Given the description of an element on the screen output the (x, y) to click on. 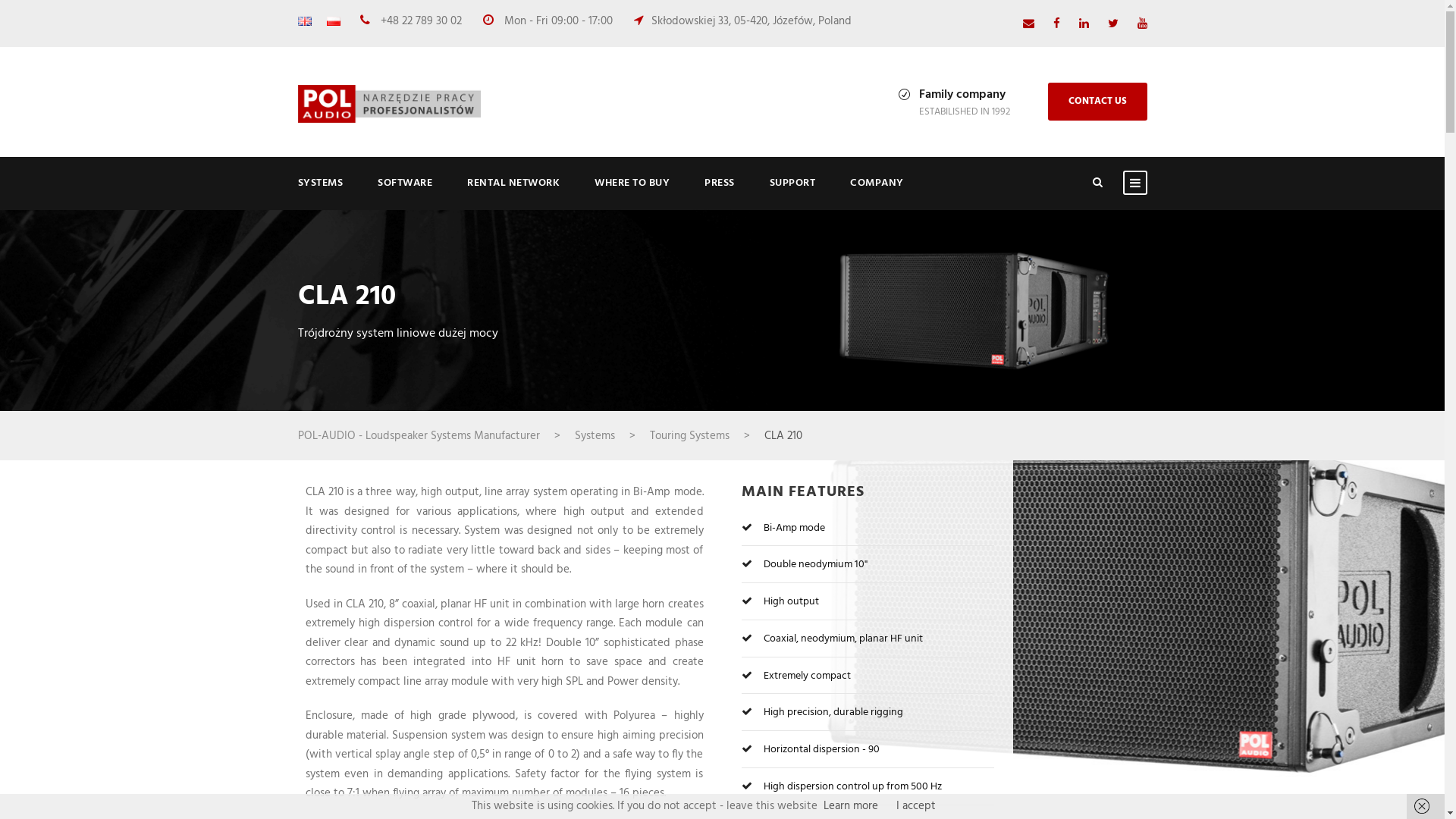
facebook Element type: hover (1055, 24)
Learn more Element type: text (850, 805)
I accept Element type: text (915, 805)
SUPPORT Element type: text (791, 192)
linkedin Element type: hover (1083, 24)
SYSTEMS Element type: text (319, 192)
email Element type: hover (1027, 24)
twitter Element type: hover (1112, 24)
CONTACT US Element type: text (1097, 101)
COMPANY Element type: text (876, 192)
Systems Element type: text (594, 435)
SOFTWARE Element type: text (404, 192)
PRESS Element type: text (719, 192)
WHERE TO BUY Element type: text (631, 192)
RENTAL NETWORK Element type: text (513, 192)
Touring Systems Element type: text (688, 435)
pol-audio-logo-narzedzie Element type: hover (388, 103)
POL-AUDIO - Loudspeaker Systems Manufacturer Element type: text (418, 435)
youtube Element type: hover (1142, 24)
